Given the description of an element on the screen output the (x, y) to click on. 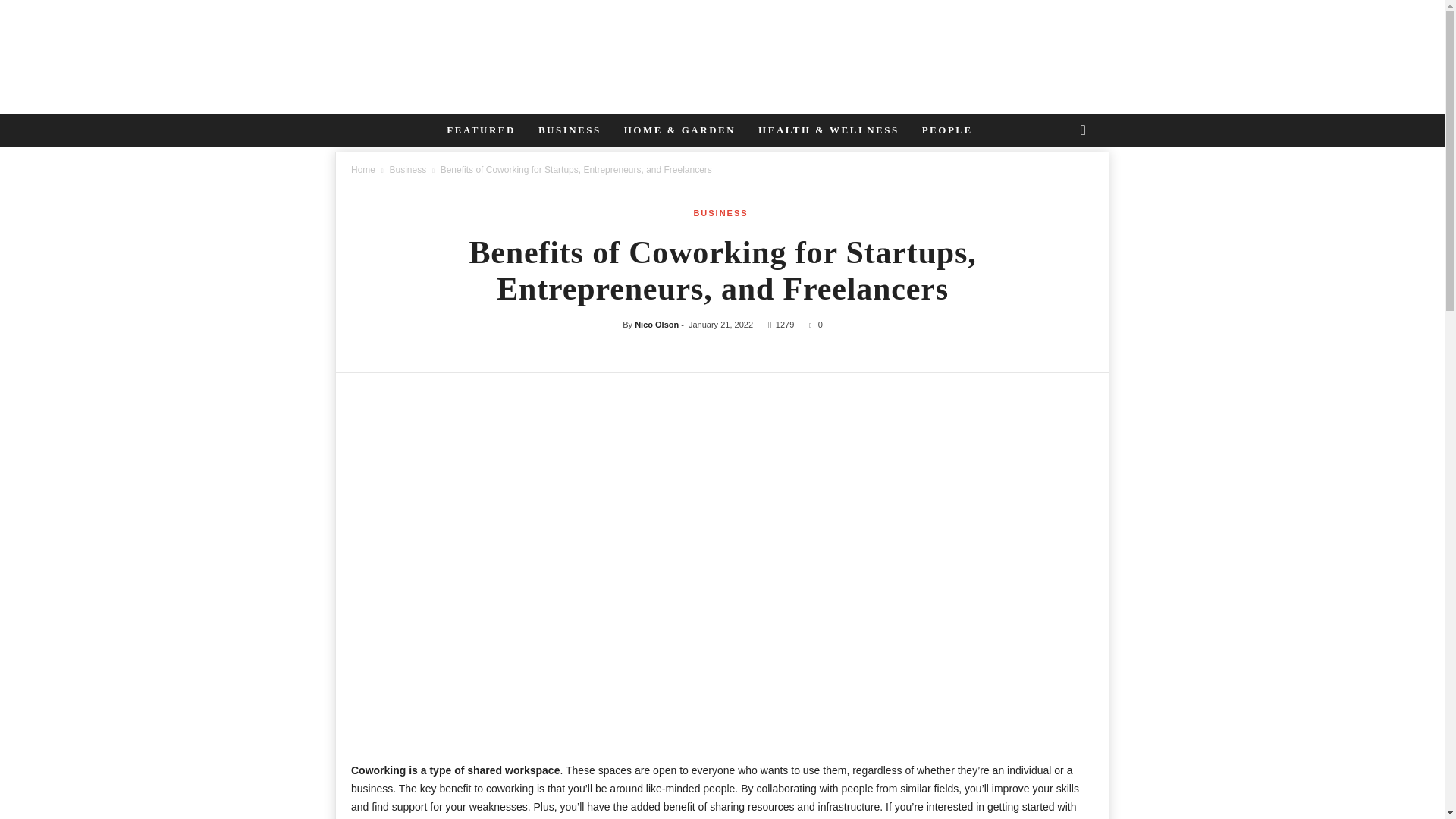
FEATURED (481, 130)
BUSINESS (719, 213)
Business (408, 169)
Nico Olson (656, 324)
View all posts in Business (408, 169)
0 (812, 324)
BUSINESS (569, 130)
PEOPLE (947, 130)
Home (362, 169)
